Given the description of an element on the screen output the (x, y) to click on. 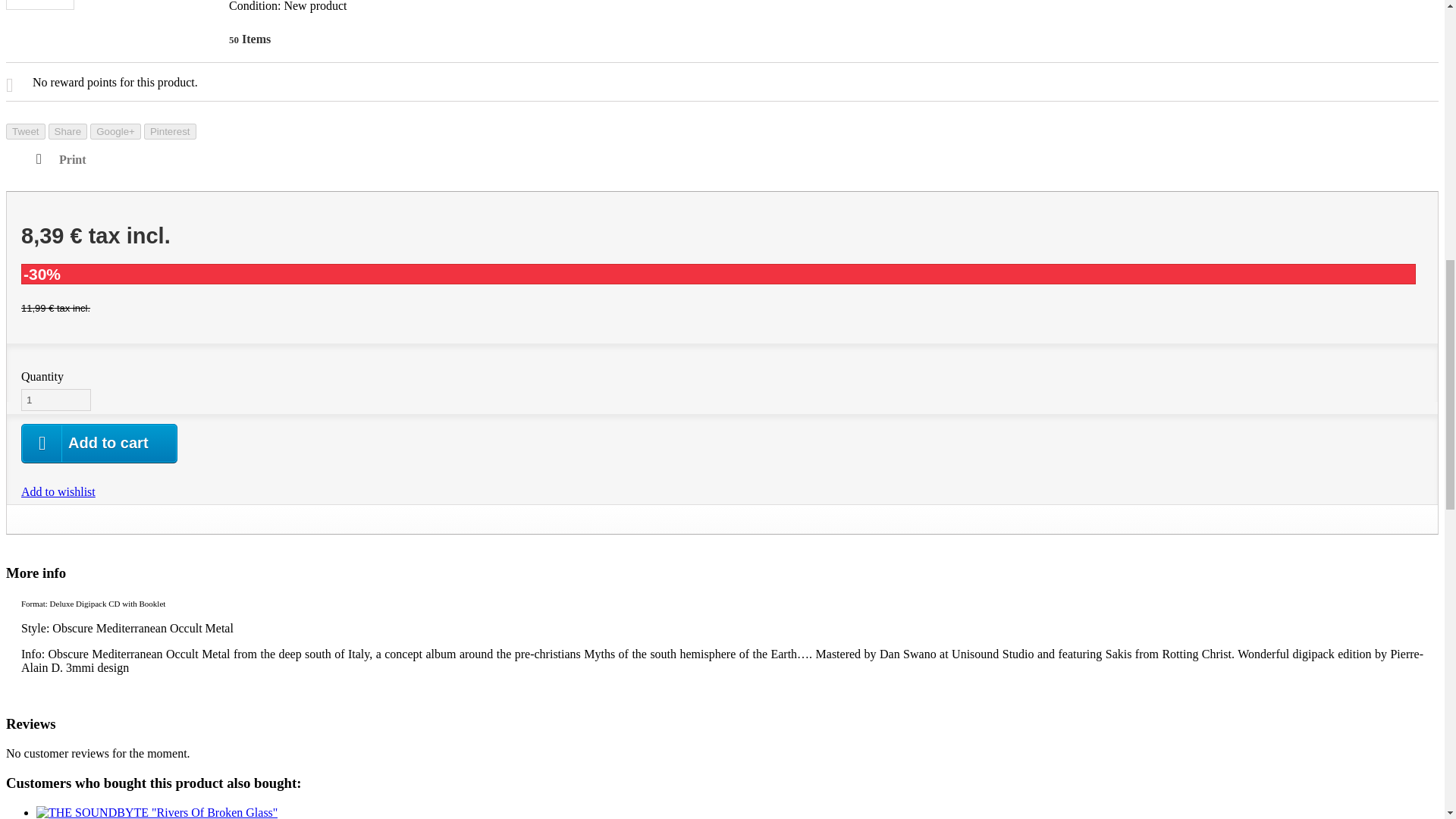
Add to cart (99, 443)
Tweet (25, 131)
1 (55, 400)
Print (60, 159)
Share (67, 131)
Pinterest (170, 131)
